Given the description of an element on the screen output the (x, y) to click on. 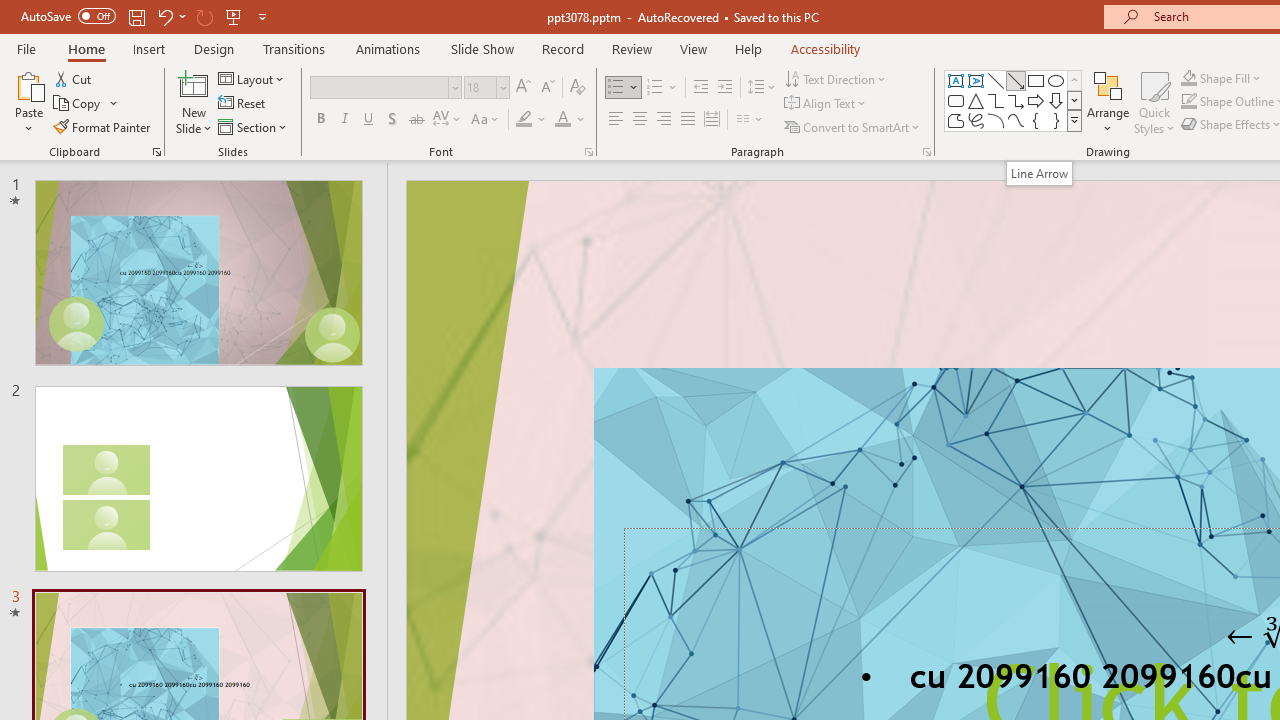
Increase Indent (725, 87)
Underline (369, 119)
Increase Font Size (522, 87)
